Given the description of an element on the screen output the (x, y) to click on. 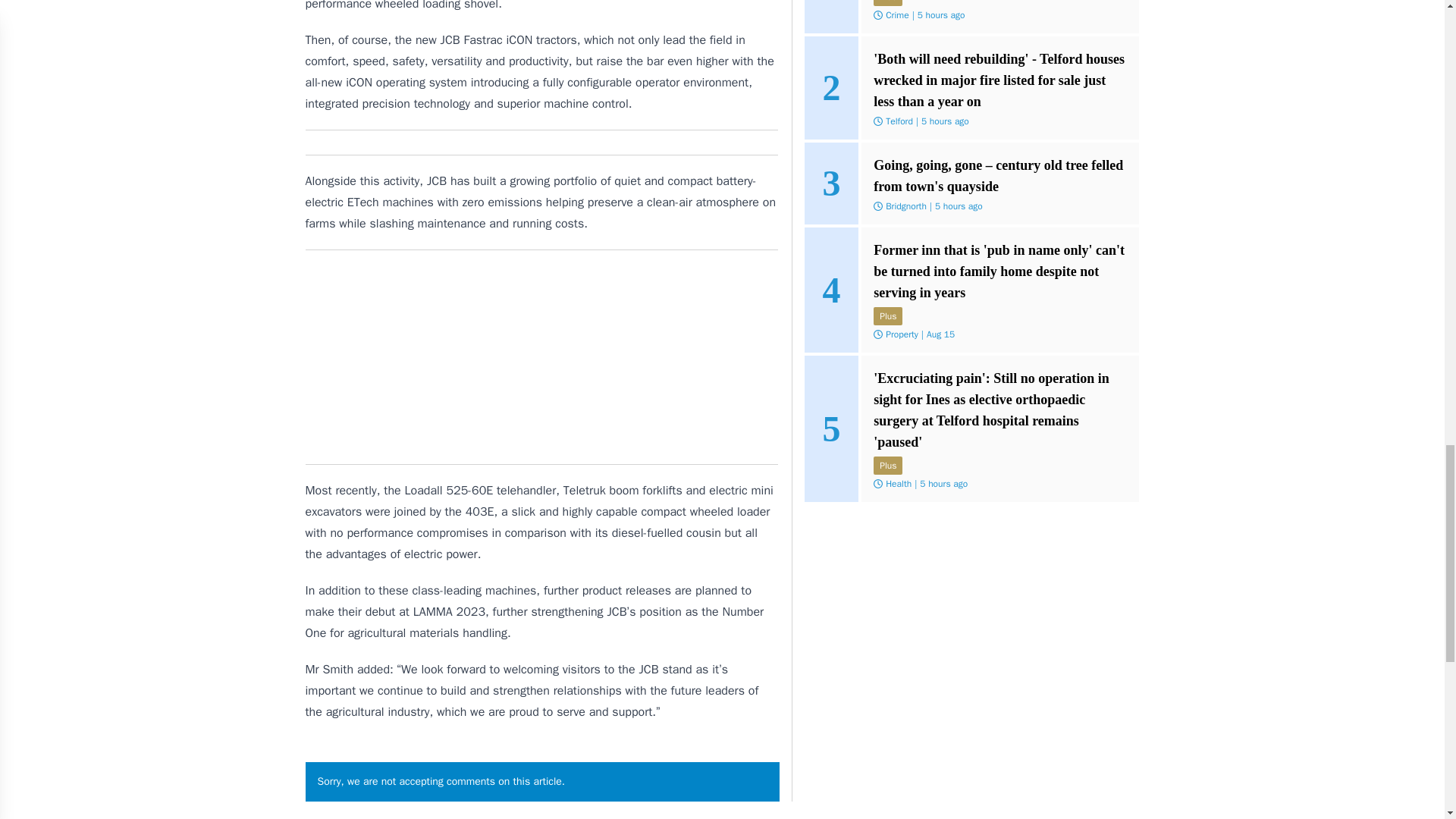
Property (901, 334)
Telford (898, 121)
Health (898, 483)
Bridgnorth (905, 205)
Crime (896, 15)
